Given the description of an element on the screen output the (x, y) to click on. 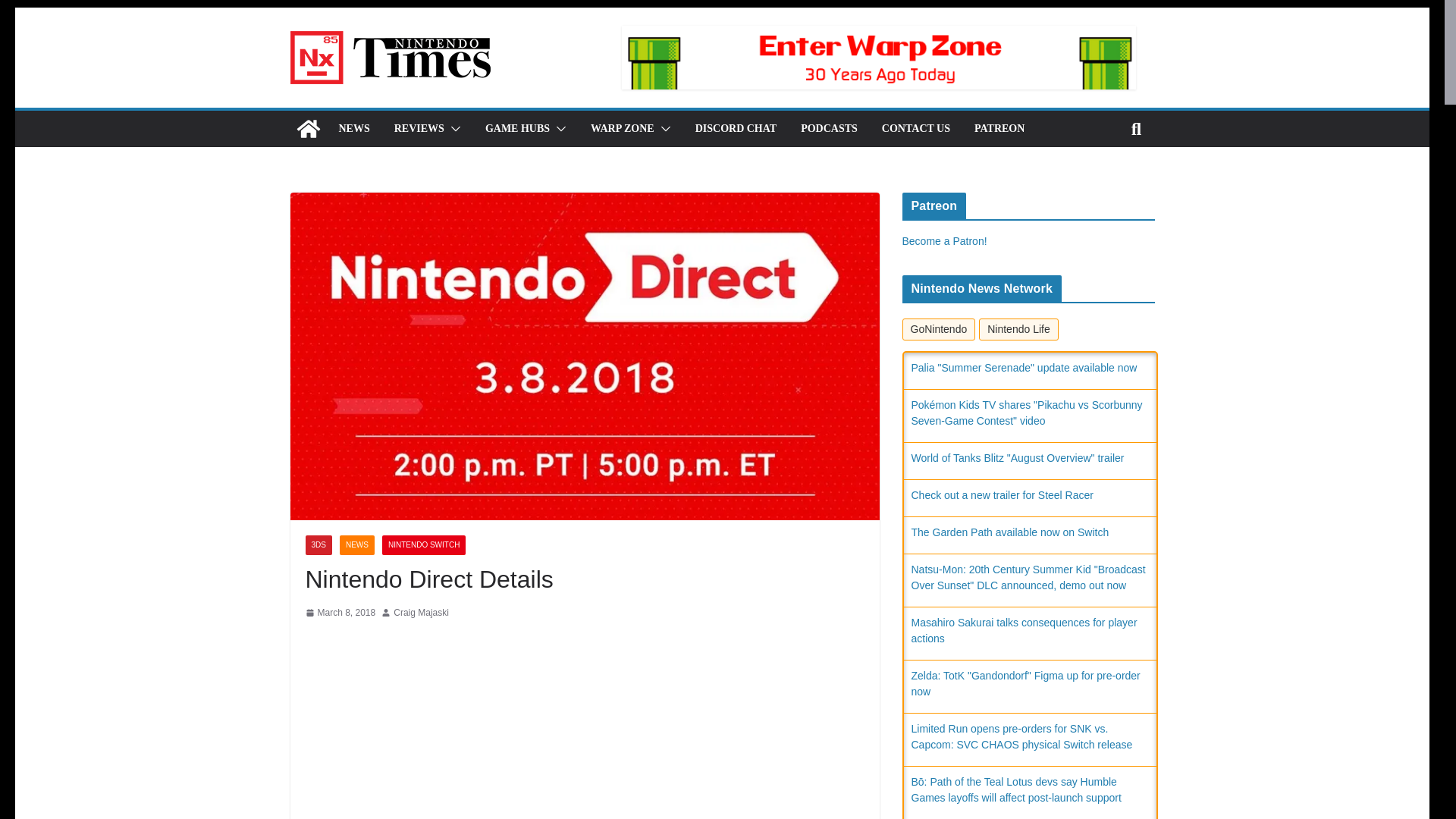
March 8, 2018 (339, 613)
PODCASTS (828, 128)
Nintendo Times (307, 128)
NEWS (353, 128)
Palia "Summer Serenade" update available now (1024, 367)
WARP ZONE (622, 128)
REVIEWS (419, 128)
GAME HUBS (517, 128)
YouTube player (583, 742)
Craig Majaski (420, 613)
World of Tanks Blitz "August Overview" trailer (1017, 458)
CONTACT US (916, 128)
PATREON (999, 128)
4:09 PM (339, 613)
